Given the description of an element on the screen output the (x, y) to click on. 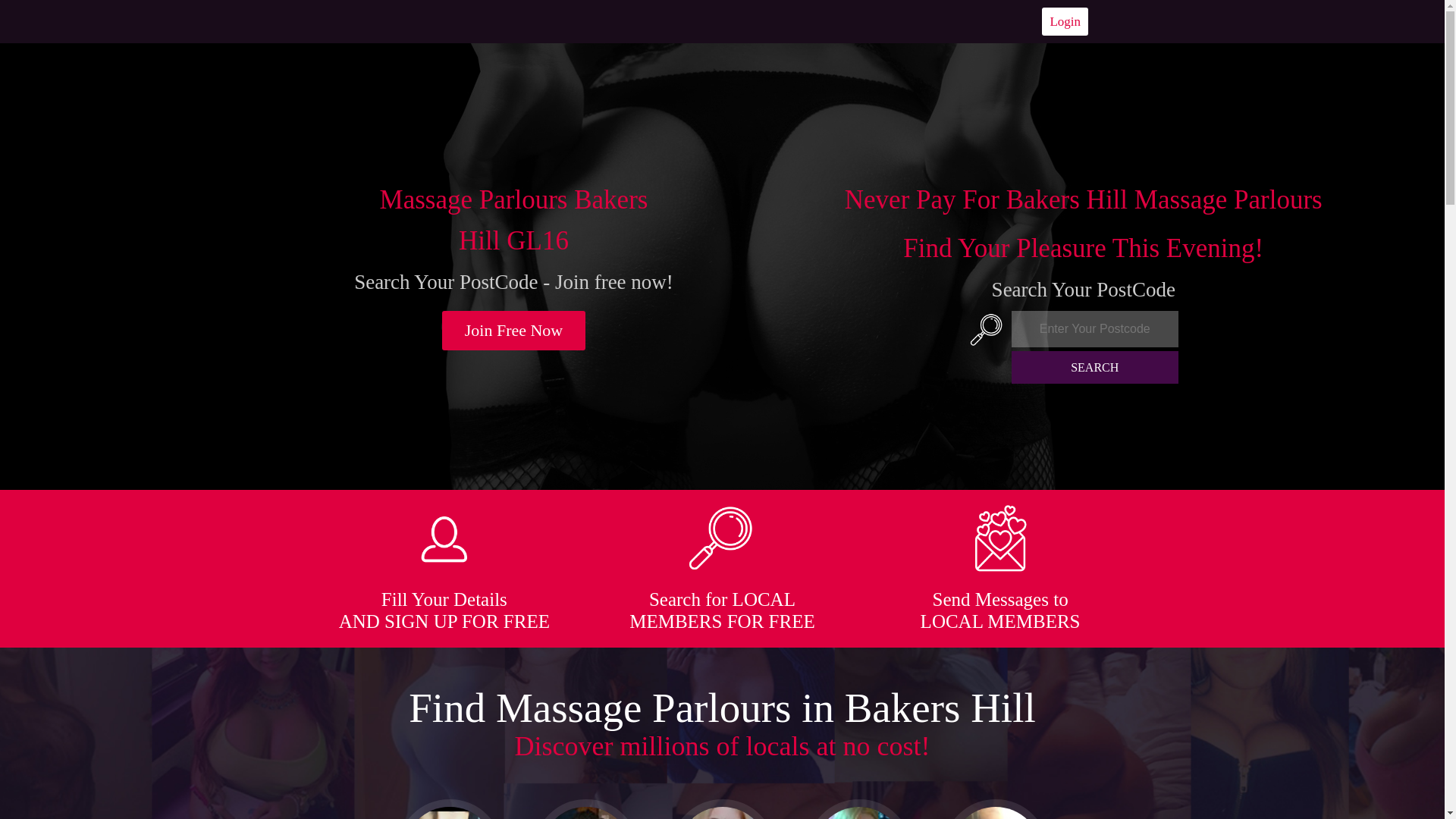
Join (514, 330)
SEARCH (1094, 367)
Login (1064, 21)
Join Free Now (514, 330)
Login (1064, 21)
